Given the description of an element on the screen output the (x, y) to click on. 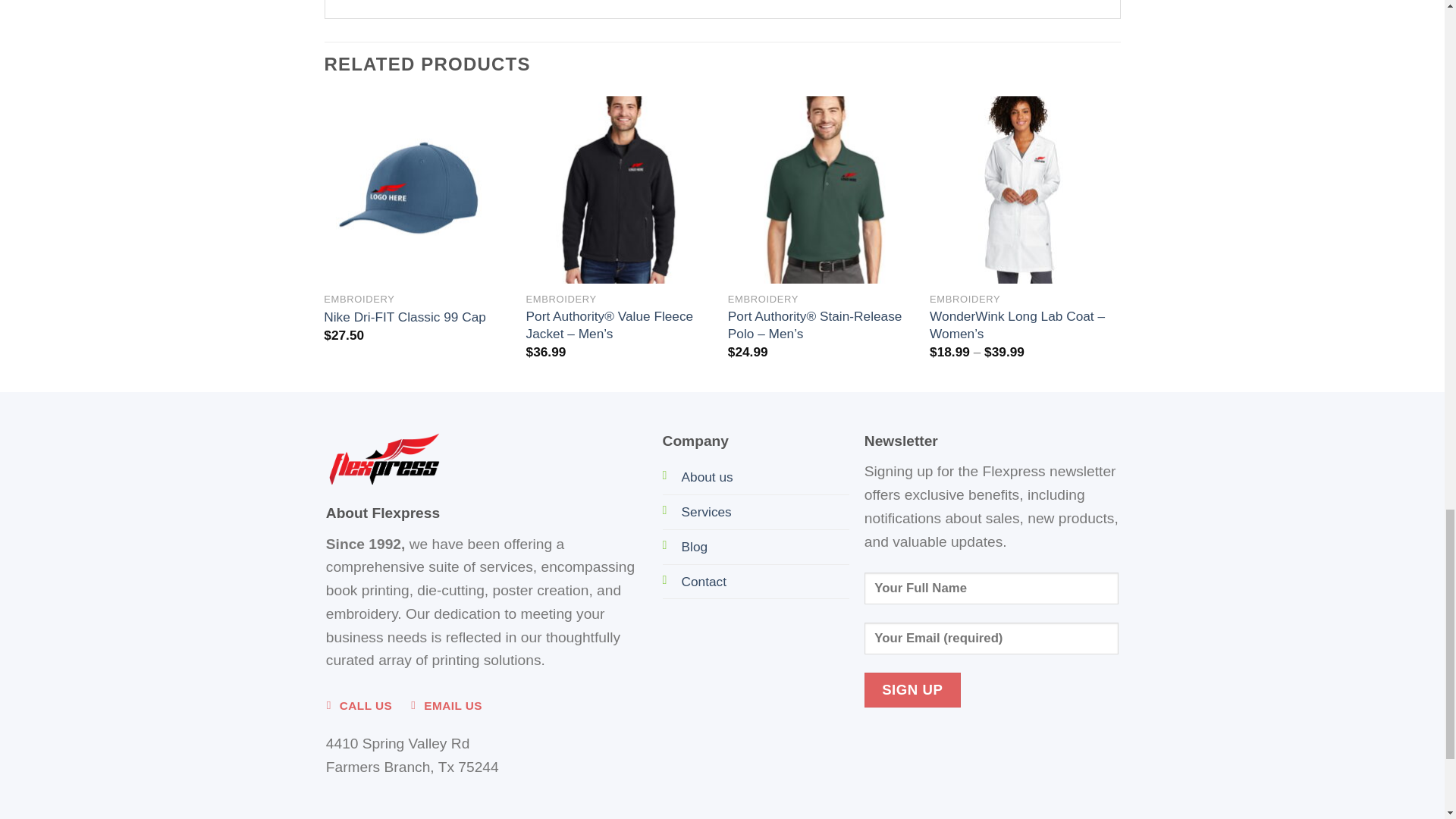
SIGN UP (912, 690)
